Given the description of an element on the screen output the (x, y) to click on. 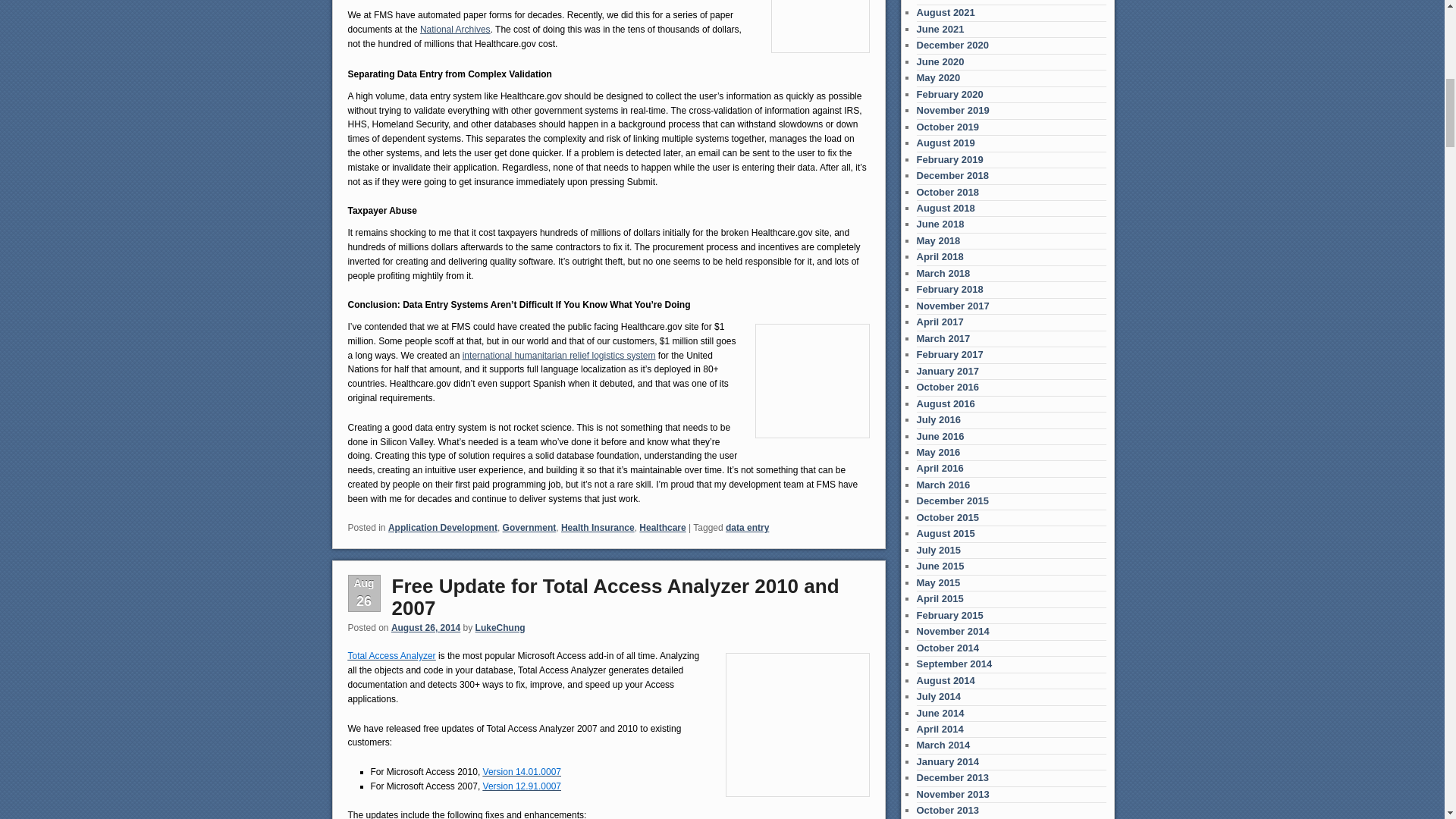
View all posts by LukeChung (500, 627)
8:03 PM (425, 627)
